Given the description of an element on the screen output the (x, y) to click on. 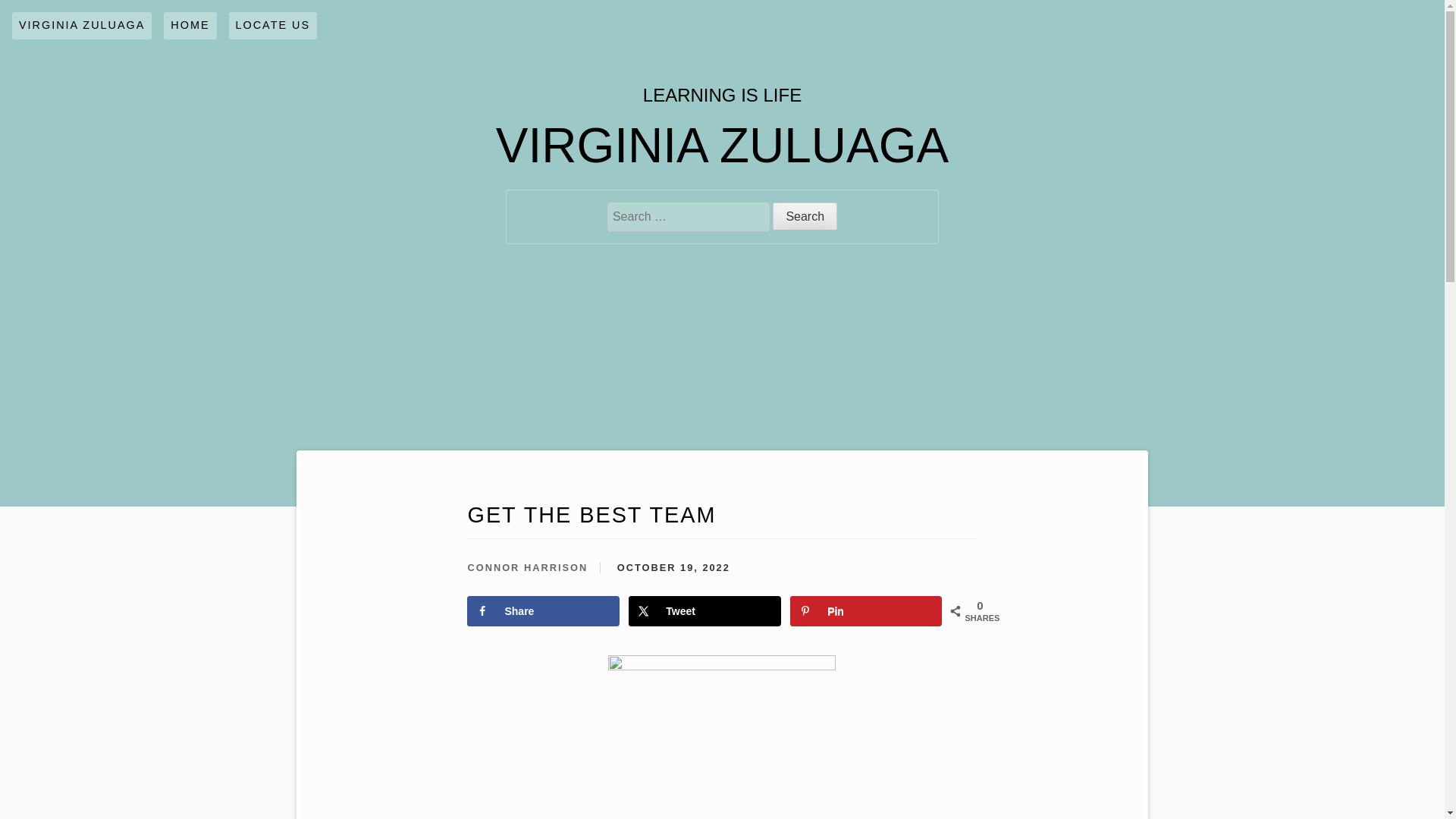
CONNOR HARRISON (527, 567)
Pin (866, 611)
Share on Facebook (542, 611)
LOCATE US (272, 25)
Search (805, 216)
z.jpg (721, 735)
Search (805, 216)
Tweet (704, 611)
Search (805, 216)
VIRGINIA ZULUAGA (81, 25)
